Given the description of an element on the screen output the (x, y) to click on. 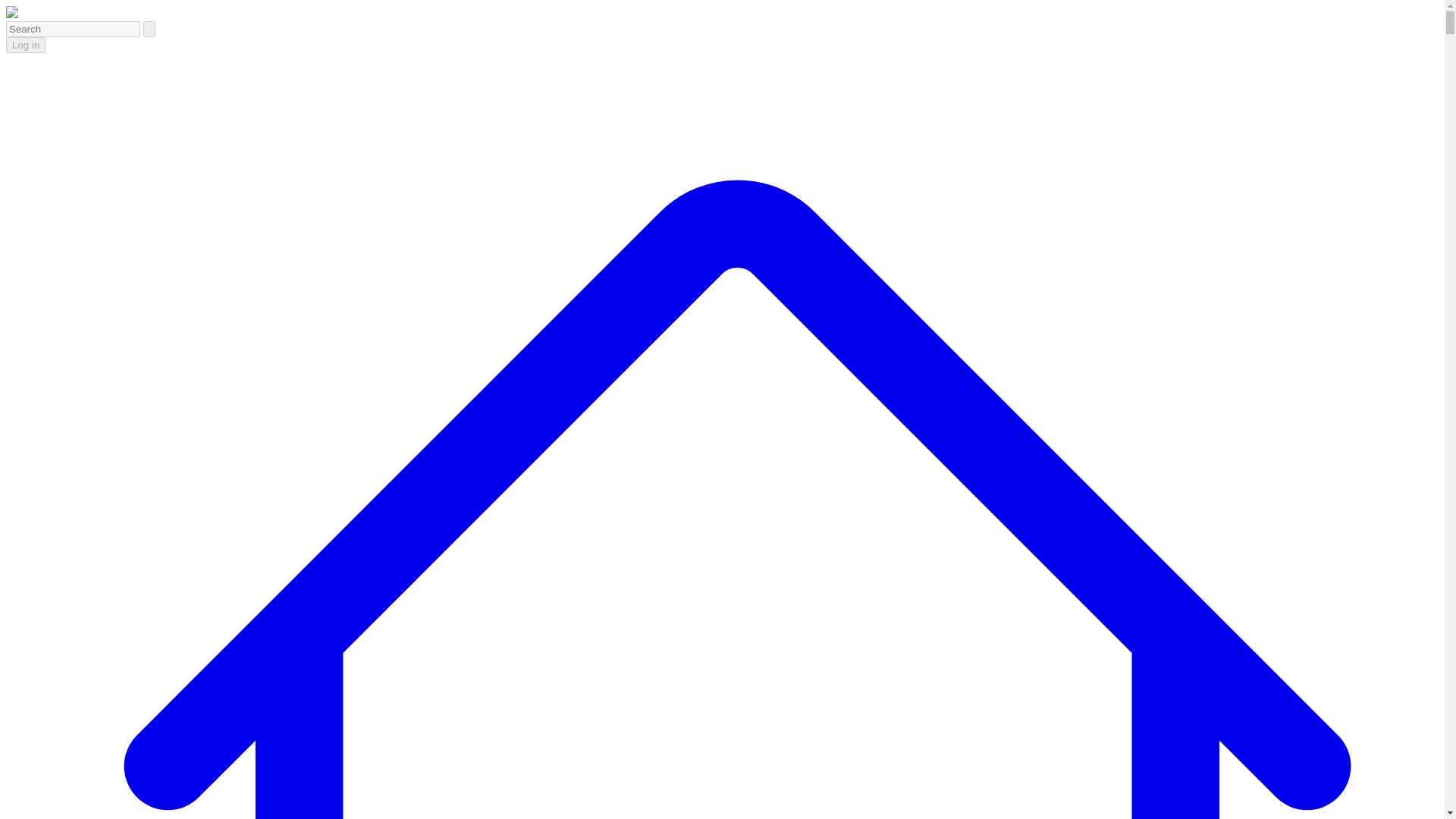
Log in (25, 44)
Log in (25, 43)
